Given the description of an element on the screen output the (x, y) to click on. 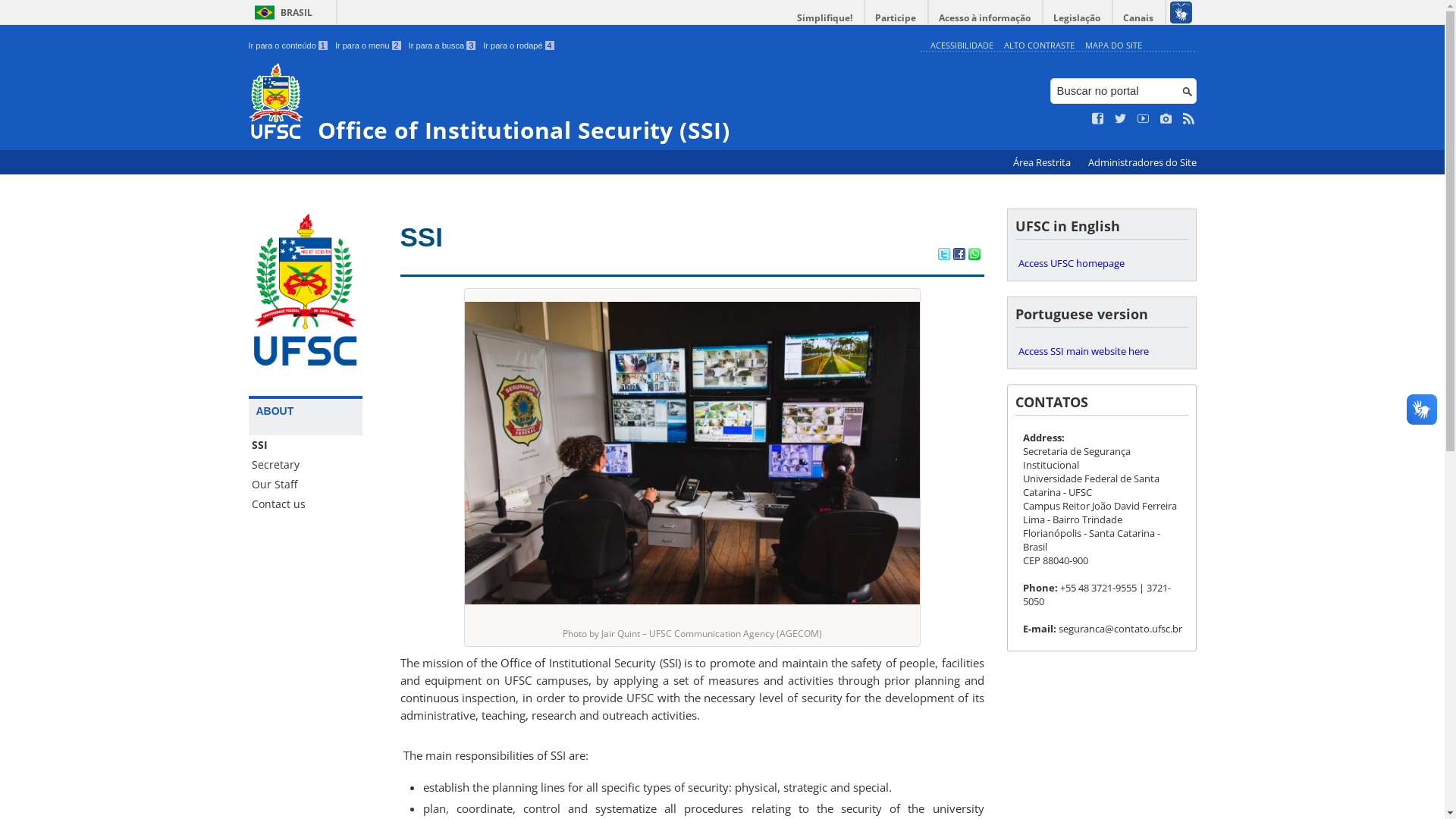
ALTO CONTRASTE Element type: text (1039, 44)
Secretary Element type: text (305, 464)
Simplifique! Element type: text (825, 18)
ACESSIBILIDADE Element type: text (960, 44)
SSI Element type: text (305, 445)
Ir para a busca 3 Element type: text (442, 45)
Canais Element type: text (1138, 18)
Contact us Element type: text (305, 504)
SSI Element type: text (421, 236)
Veja no Instagram Element type: hover (1166, 118)
Our Staff Element type: text (305, 484)
Access SSI main website here Element type: text (1100, 350)
MAPA DO SITE Element type: text (1112, 44)
Participe Element type: text (895, 18)
Compartilhar no Twitter Element type: hover (943, 255)
Access UFSC homepage Element type: text (1100, 263)
Siga no Twitter Element type: hover (1120, 118)
Administradores do Site Element type: text (1141, 162)
Ir para o menu 2 Element type: text (368, 45)
BRASIL Element type: text (280, 12)
Compartilhar no Facebook Element type: hover (958, 255)
Office of Institutional Security (SSI) Element type: text (580, 102)
Curta no Facebook Element type: hover (1098, 118)
Compartilhar no WhatsApp Element type: hover (973, 255)
